Given the description of an element on the screen output the (x, y) to click on. 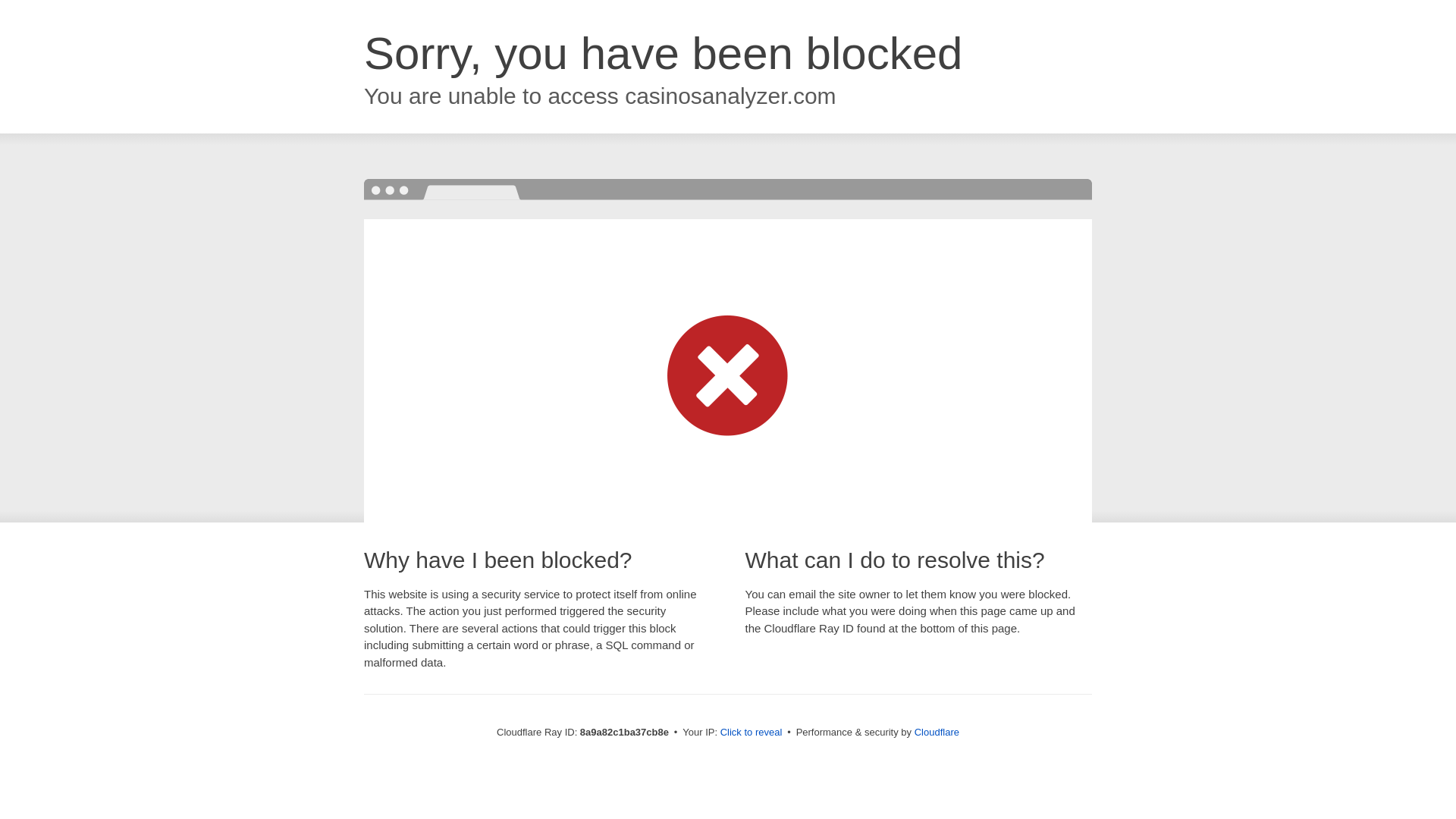
Cloudflare (936, 731)
Click to reveal (751, 732)
